Given the description of an element on the screen output the (x, y) to click on. 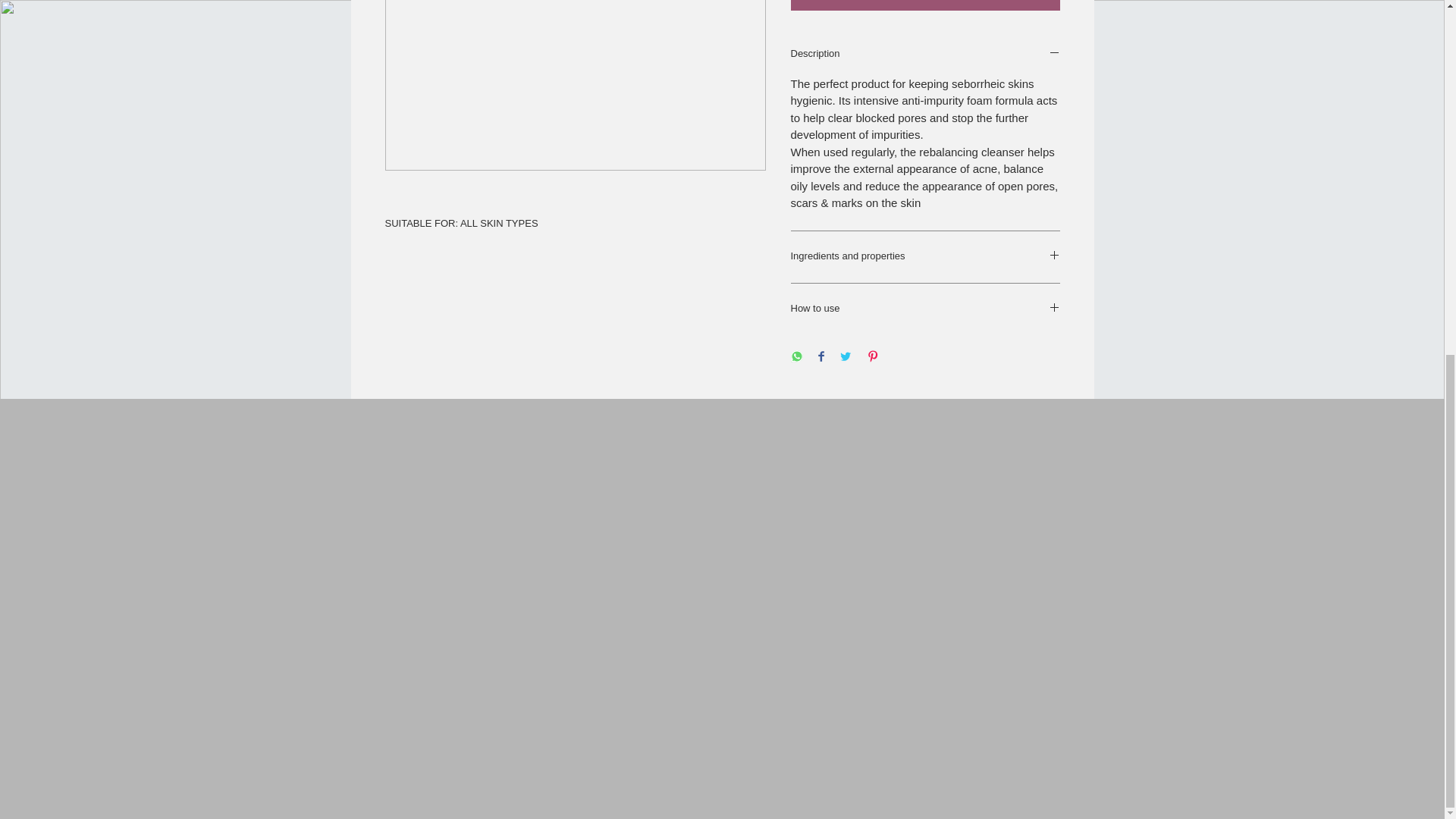
Add to Cart (924, 5)
Description (924, 54)
Ingredients and properties (924, 256)
How to use (924, 309)
